Given the description of an element on the screen output the (x, y) to click on. 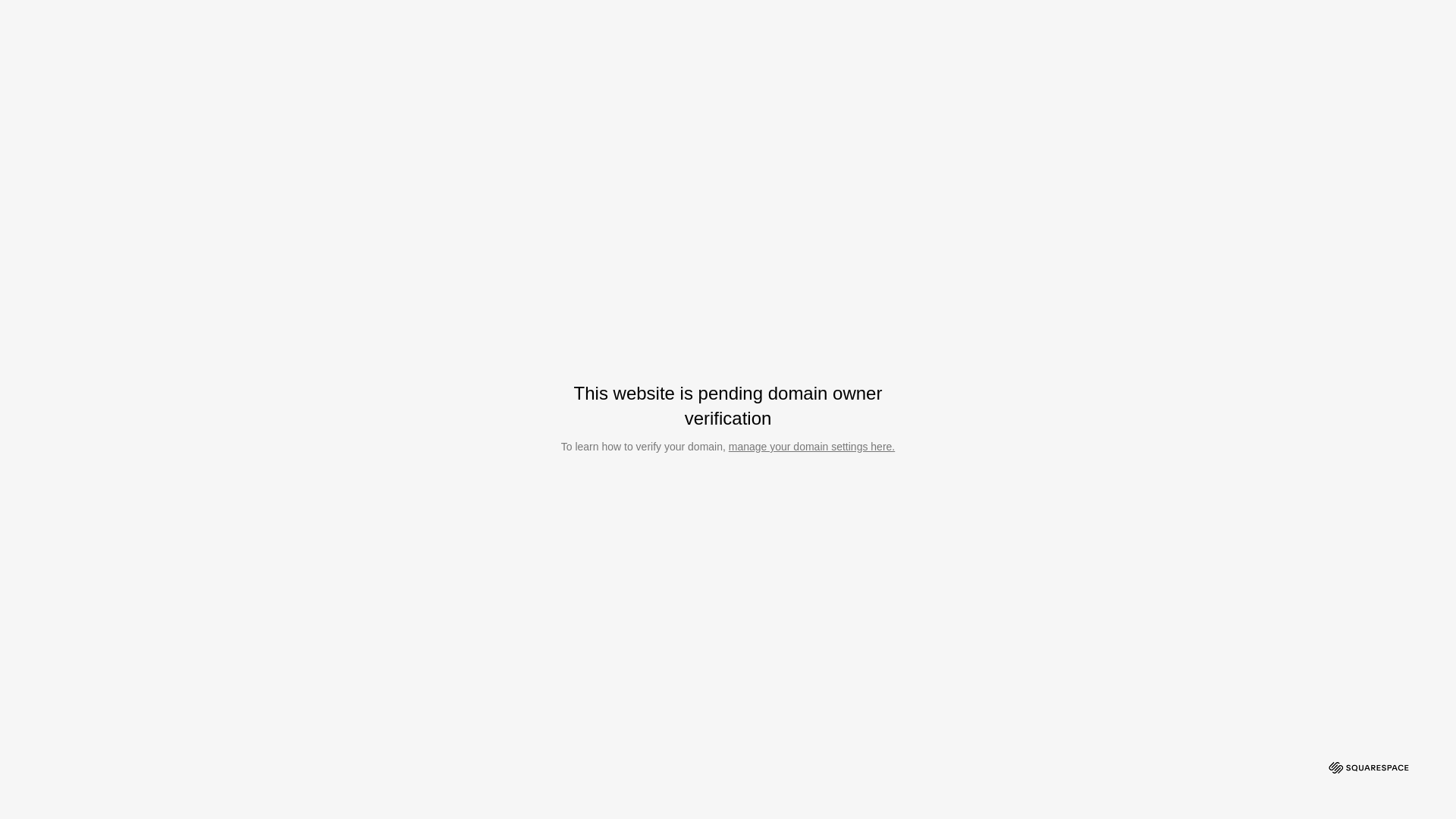
manage your domain settings here. Element type: text (811, 446)
